Given the description of an element on the screen output the (x, y) to click on. 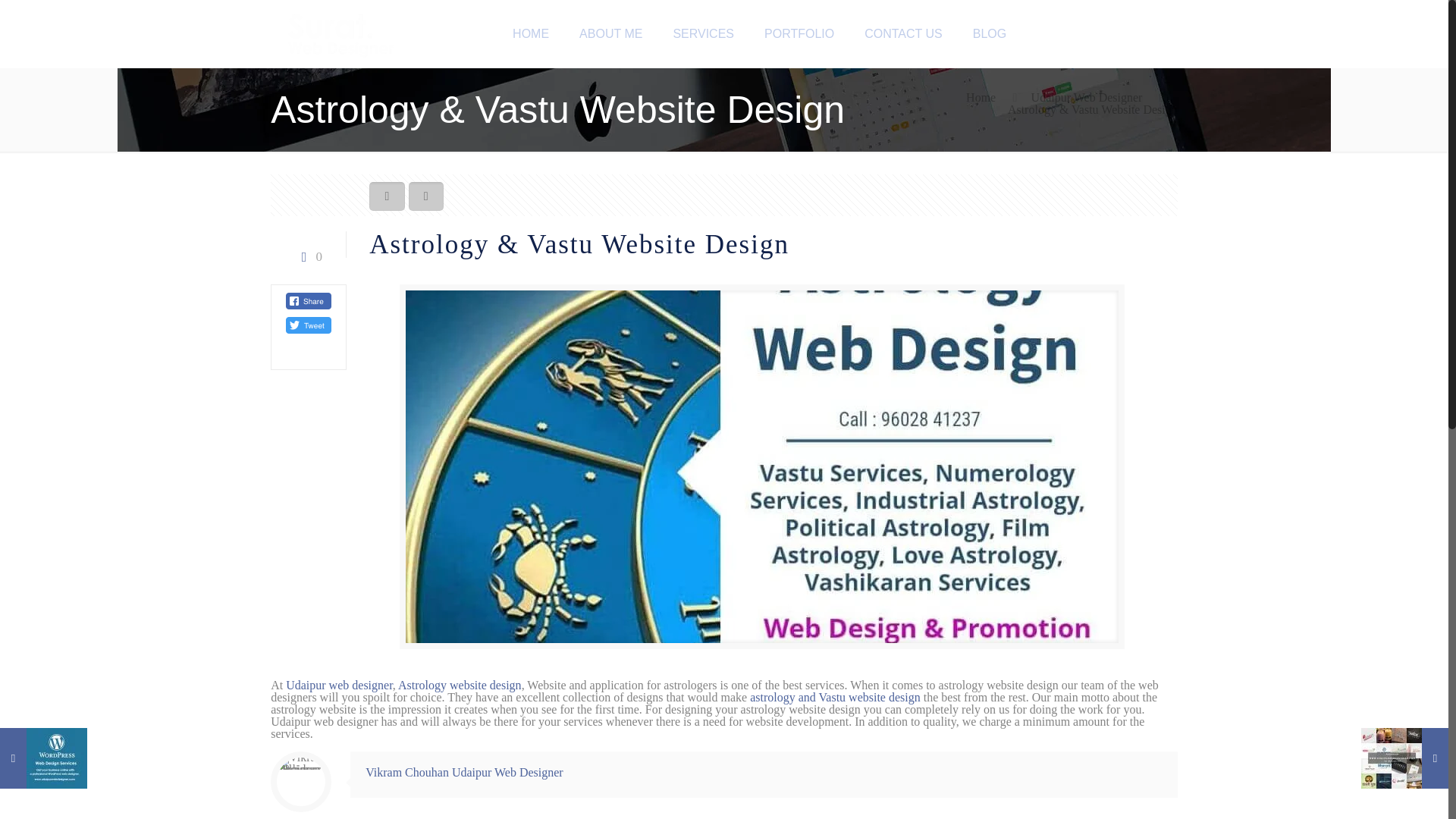
0 (307, 256)
Surat Web Designer (339, 33)
Udaipur web designer (339, 684)
SERVICES (703, 33)
Vikram Chouhan Udaipur Web Designer (464, 771)
Udaipur Web Designer (1086, 97)
Astrology website design (459, 684)
Home (980, 97)
PORTFOLIO (798, 33)
BLOG (990, 33)
